Given the description of an element on the screen output the (x, y) to click on. 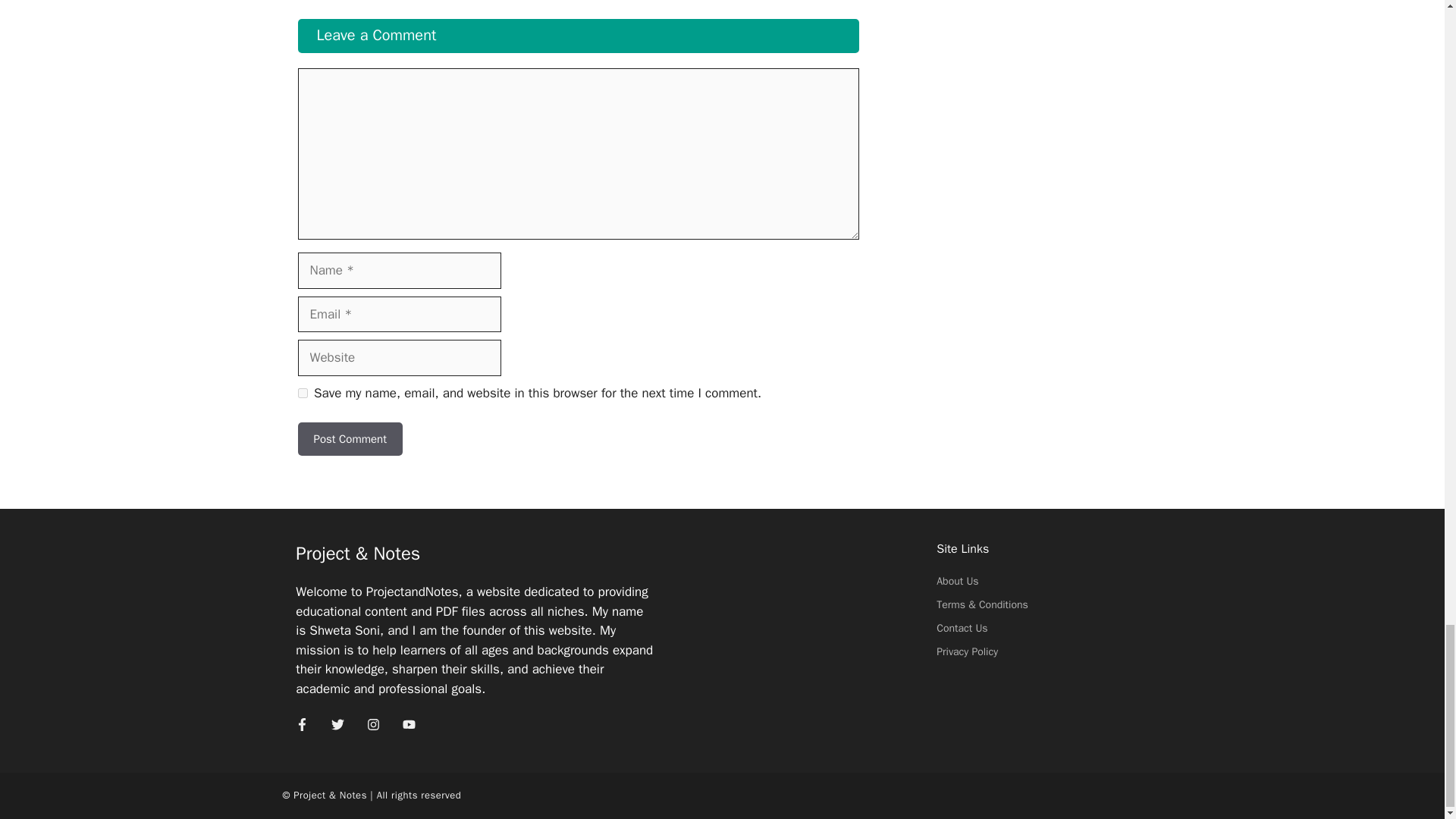
yes (302, 393)
Post Comment (349, 439)
Post Comment (349, 439)
About Us (957, 581)
Contact Us (961, 627)
